Given the description of an element on the screen output the (x, y) to click on. 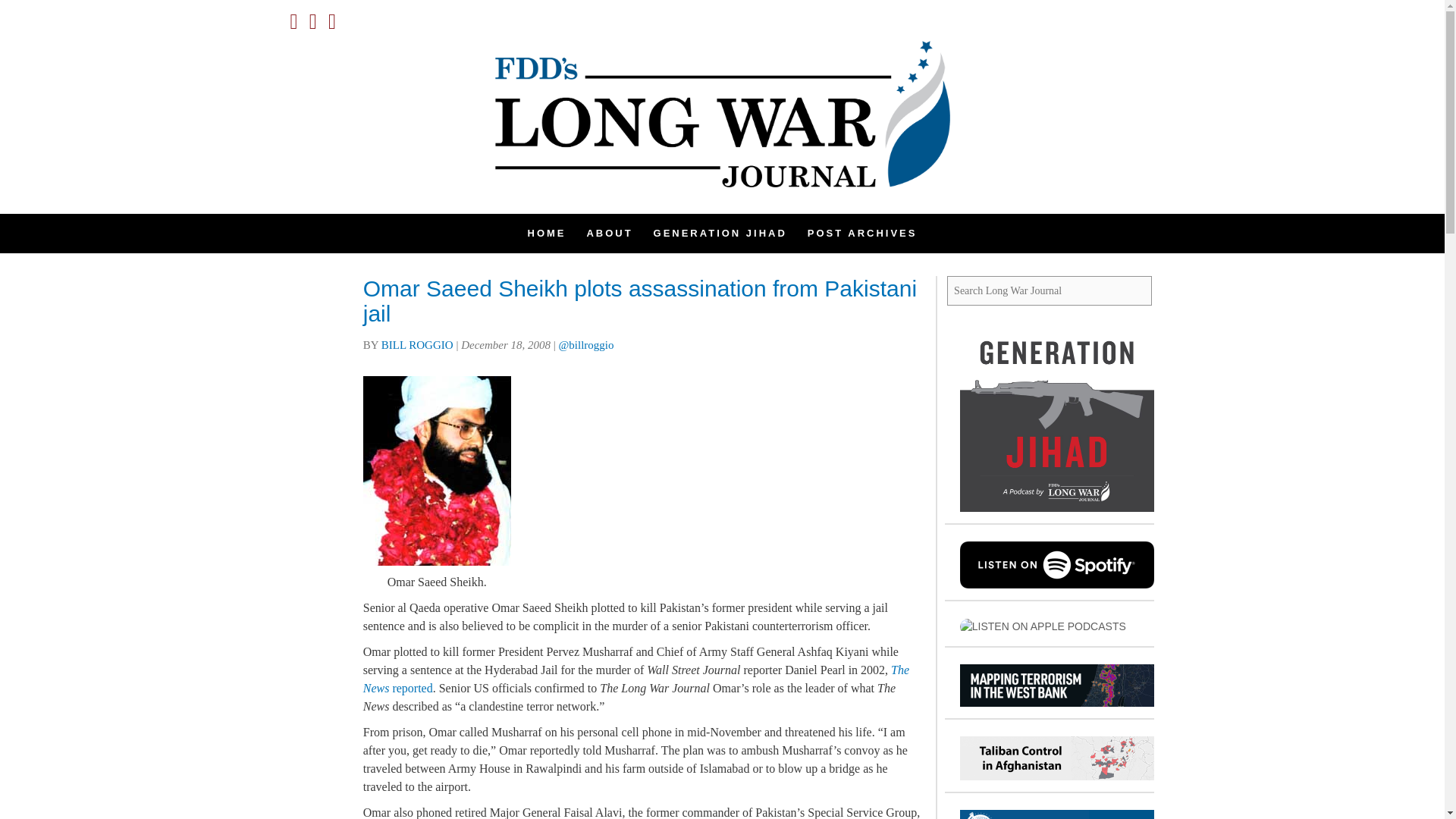
Posts by Bill Roggio (416, 345)
The News reported (635, 678)
GENERATION JIHAD (720, 233)
BILL ROGGIO (416, 345)
ABOUT (608, 233)
POST ARCHIVES (862, 233)
Omar Saeed Sheikh plots assassination from Pakistani jail (639, 300)
HOME (546, 233)
